Given the description of an element on the screen output the (x, y) to click on. 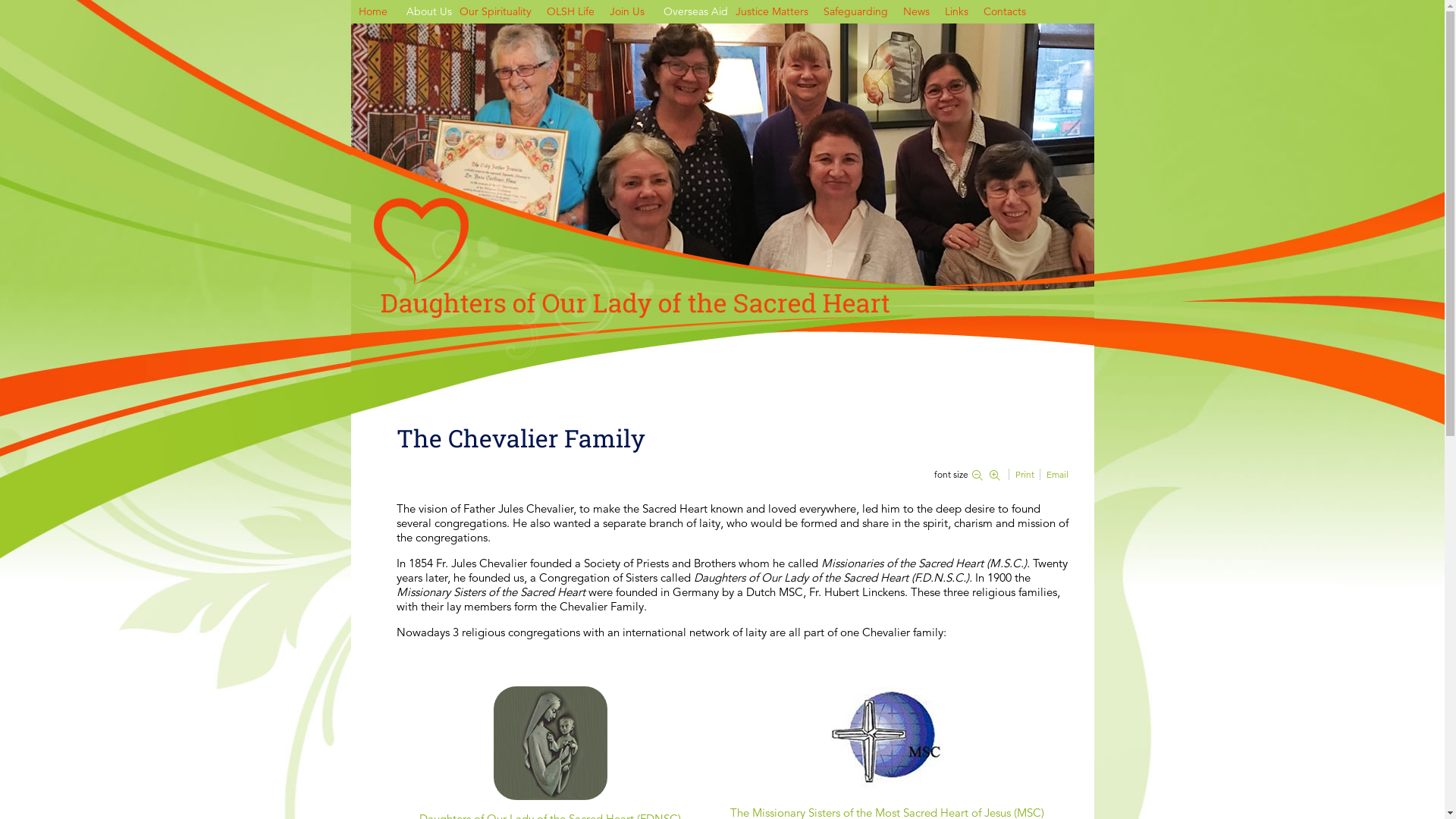
image Element type: hover (721, 157)
News Element type: text (915, 11)
Email Element type: text (1057, 474)
Our Spirituality
>open Element type: text (495, 11)
Home Element type: text (372, 11)
Print Element type: text (1024, 474)
Join Us Element type: text (627, 11)
Justice Matters Element type: text (771, 11)
Contacts Element type: text (1003, 11)
OLSH Life
>open Element type: text (569, 11)
Safeguarding Element type: text (855, 11)
Links Element type: text (956, 11)
